Given the description of an element on the screen output the (x, y) to click on. 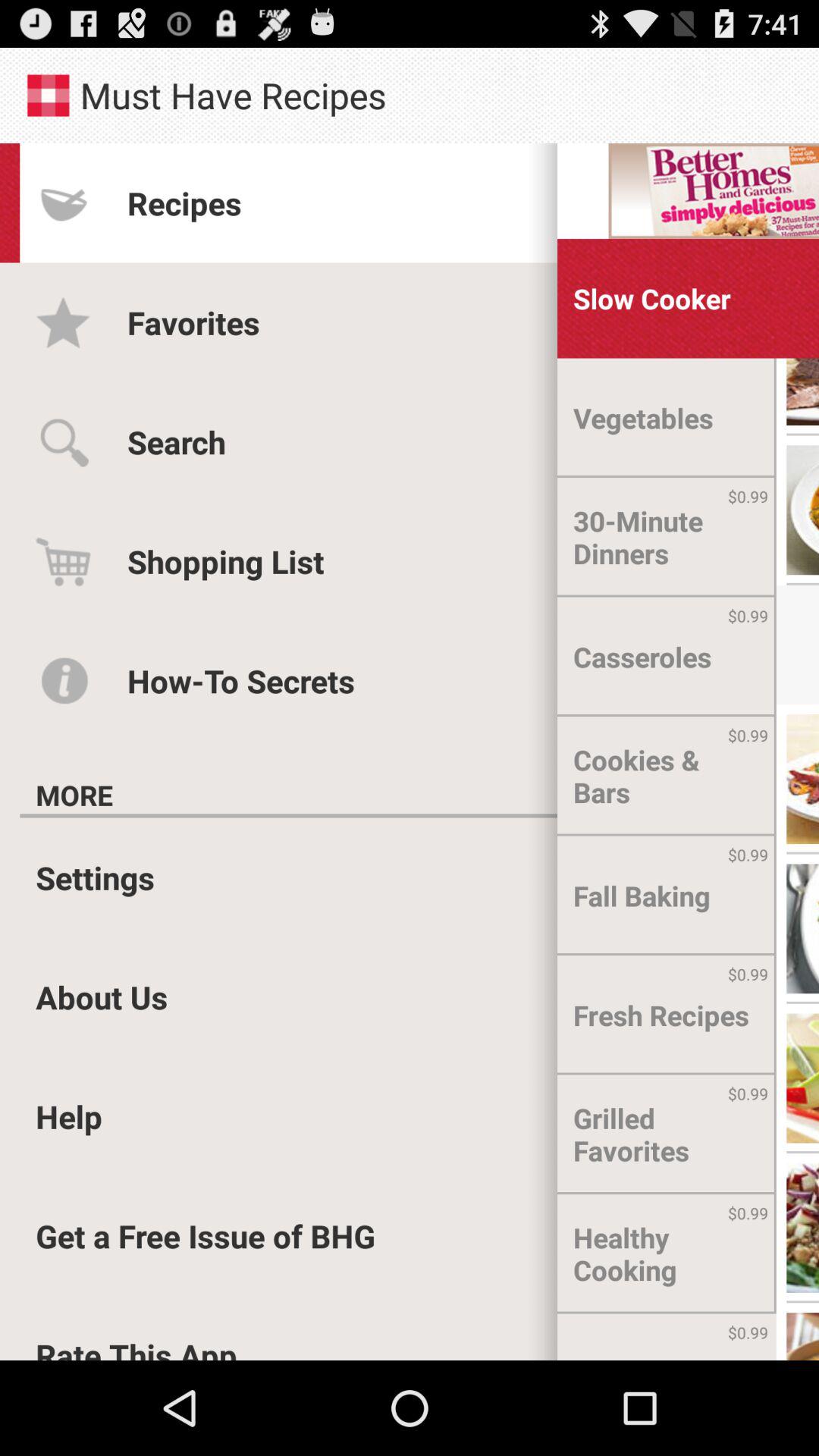
turn on item to the right of the favorites item (651, 298)
